Given the description of an element on the screen output the (x, y) to click on. 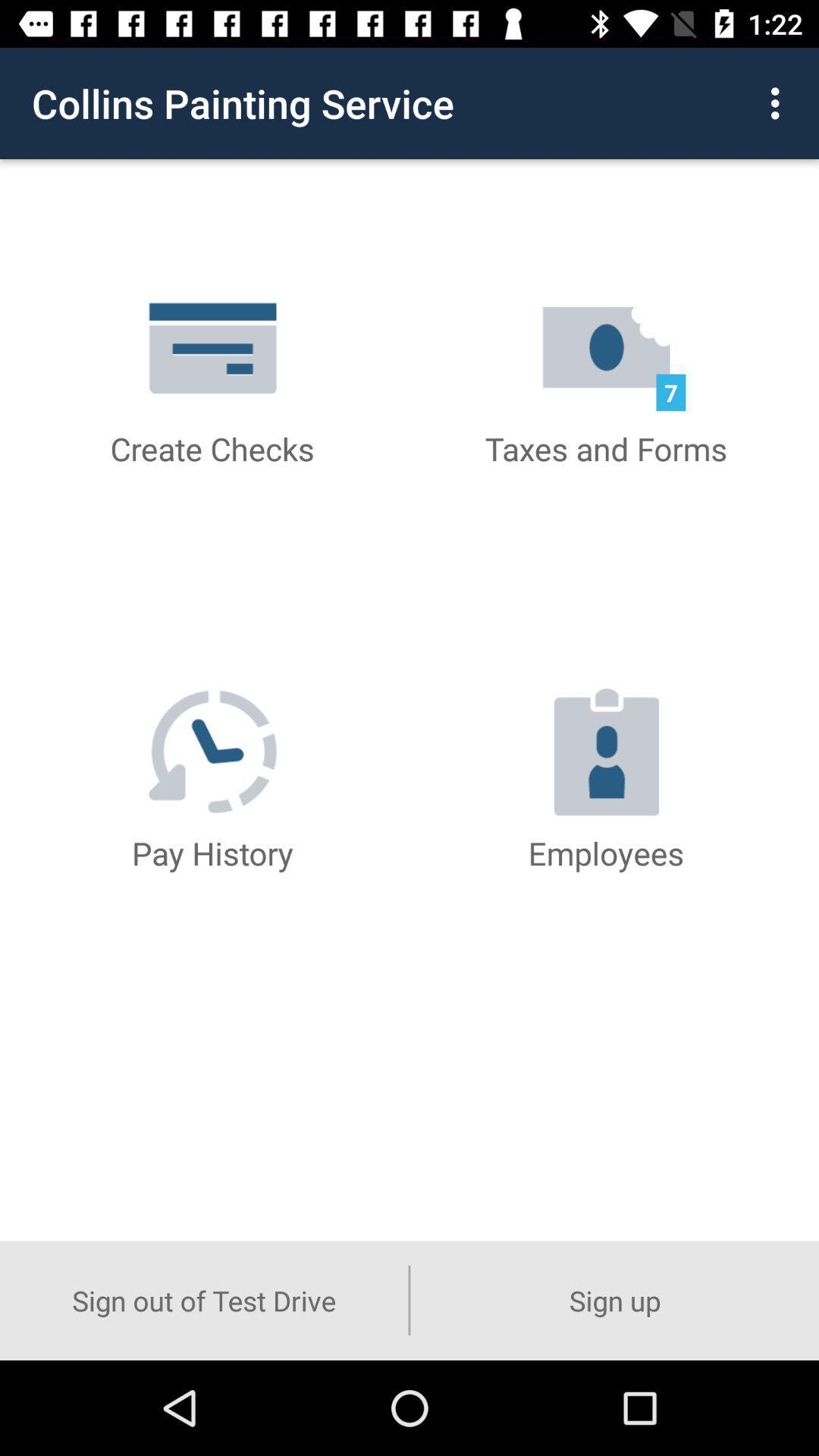
tap icon next to the collins painting service (779, 103)
